Given the description of an element on the screen output the (x, y) to click on. 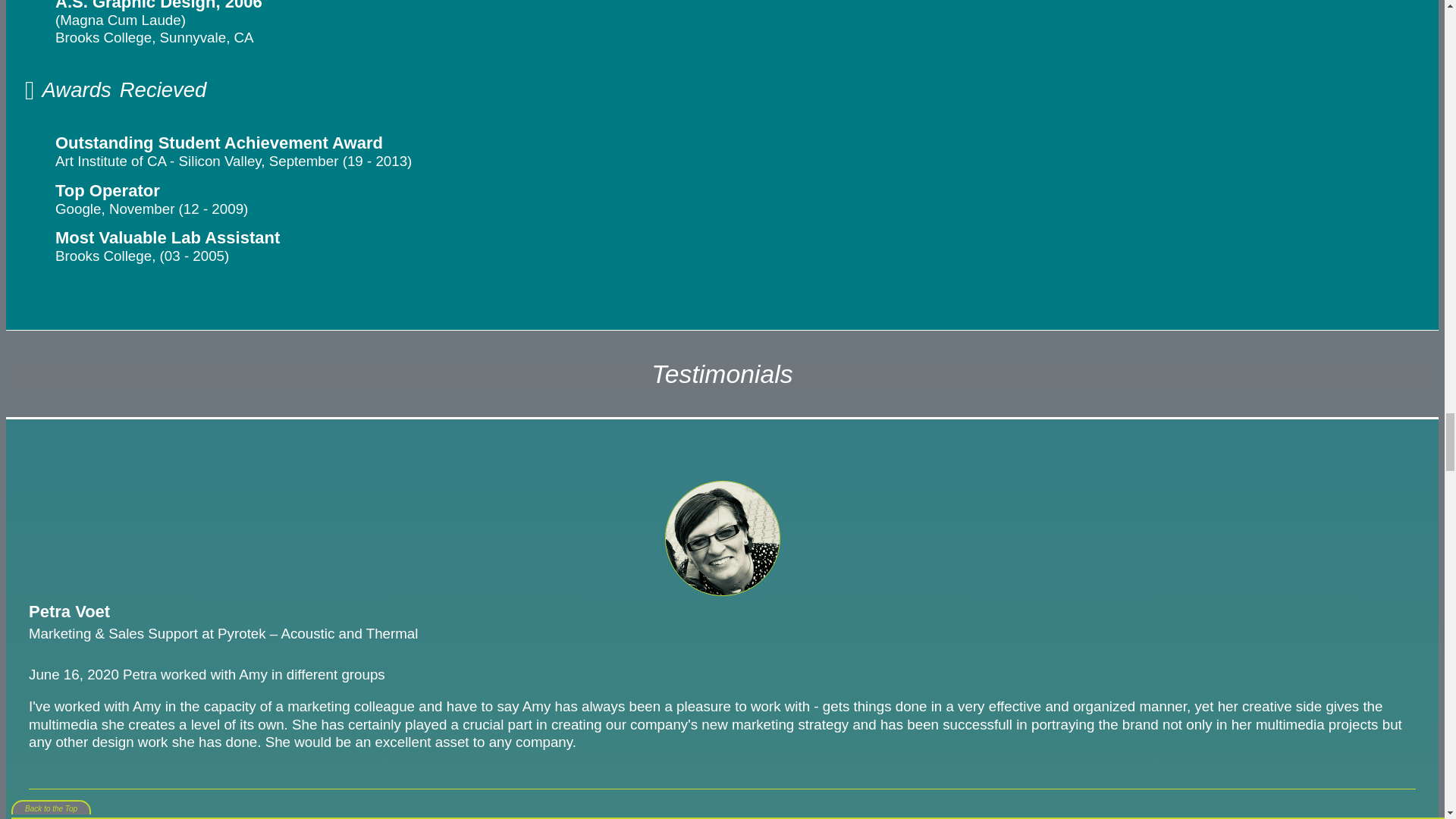
Petra Voet (720, 538)
